Given the description of an element on the screen output the (x, y) to click on. 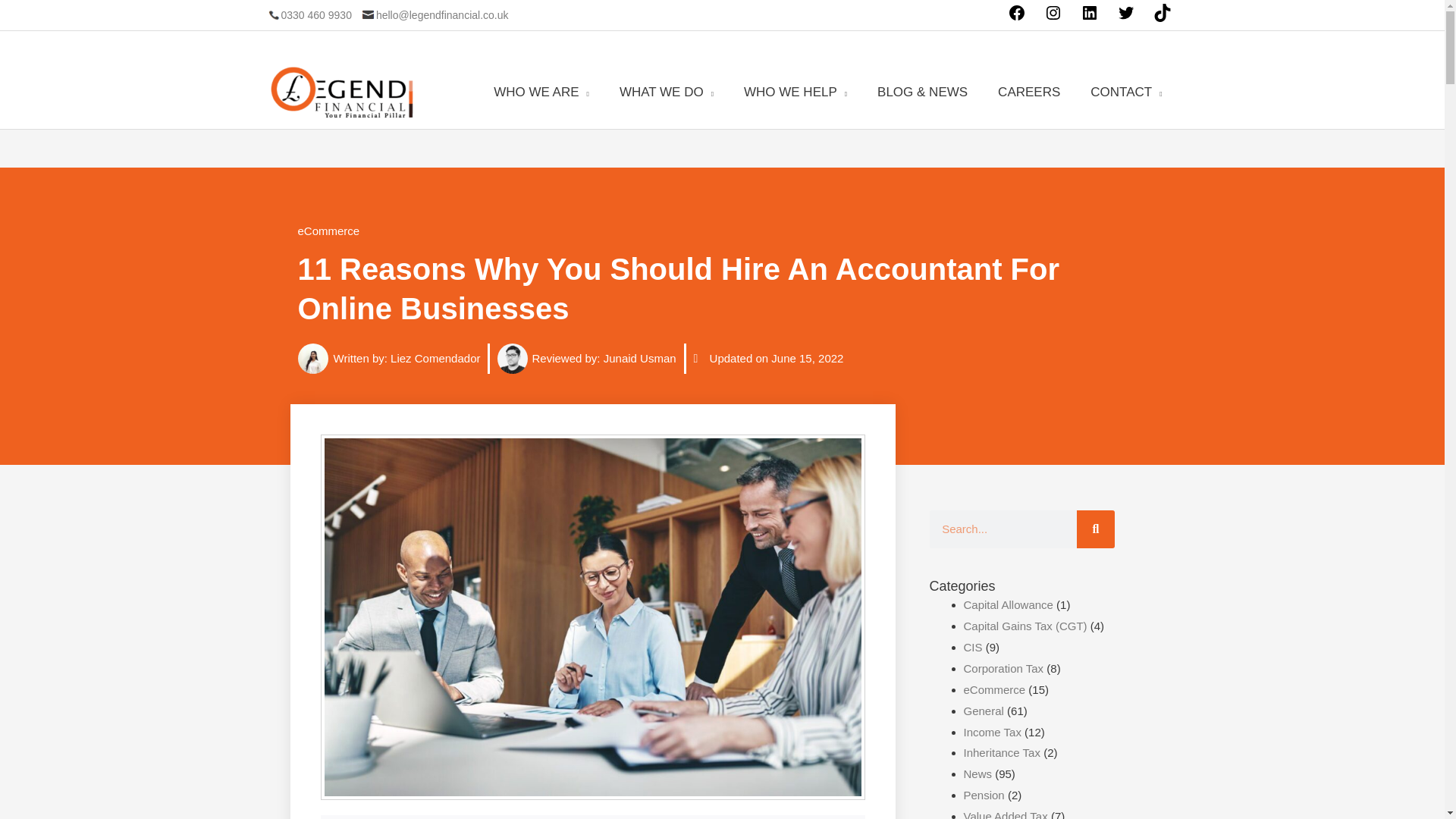
LinkedIn (1089, 17)
Twitter (1125, 17)
Instagram (1052, 17)
Facebook (1016, 17)
WHAT WE DO (666, 91)
0330 460 9930 (308, 15)
TikTok (1162, 17)
WHO WE ARE (541, 91)
